Given the description of an element on the screen output the (x, y) to click on. 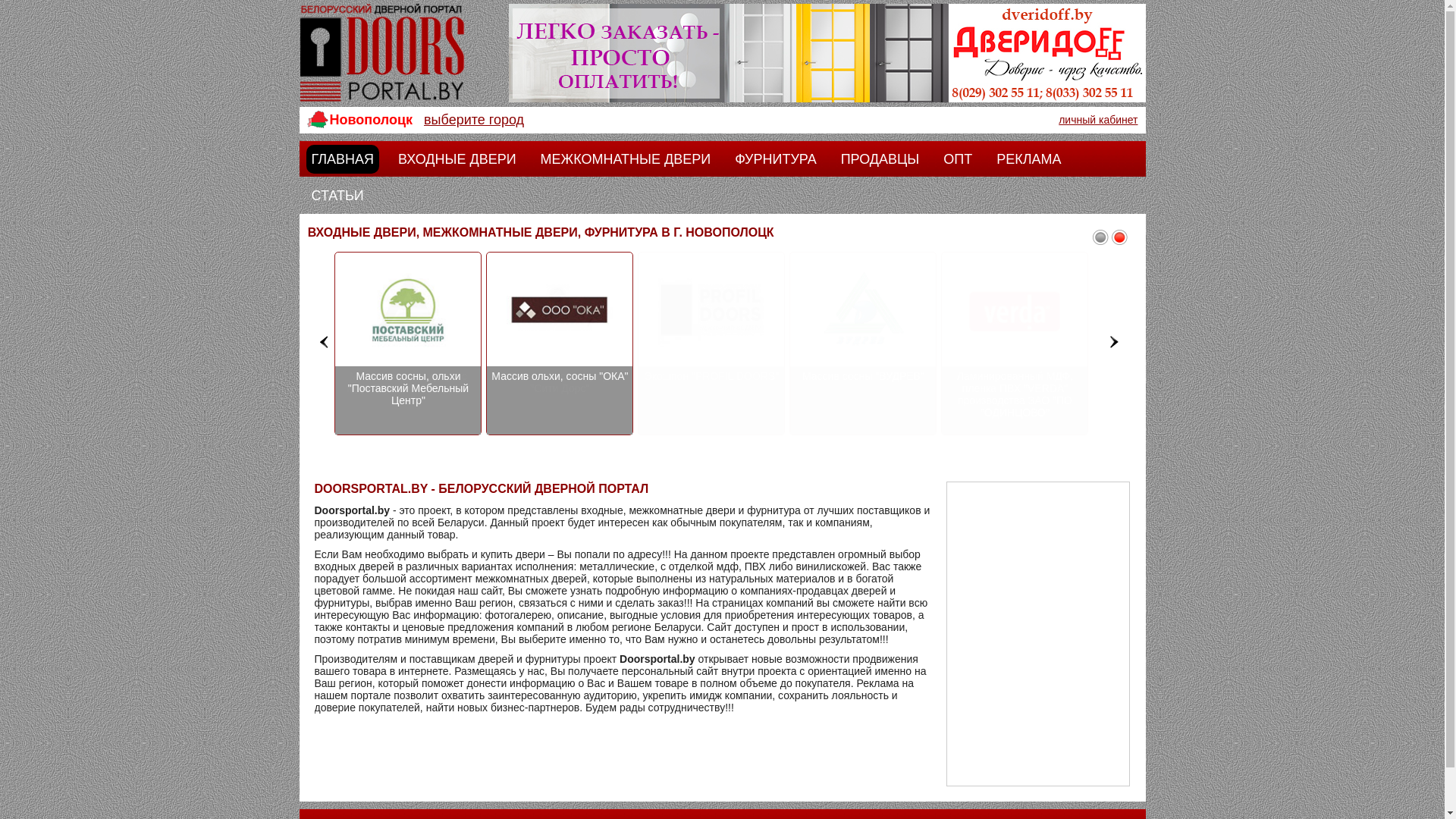
Advertisement Element type: hover (1038, 633)
> Element type: text (1114, 341)
< Element type: text (324, 341)
